Given the description of an element on the screen output the (x, y) to click on. 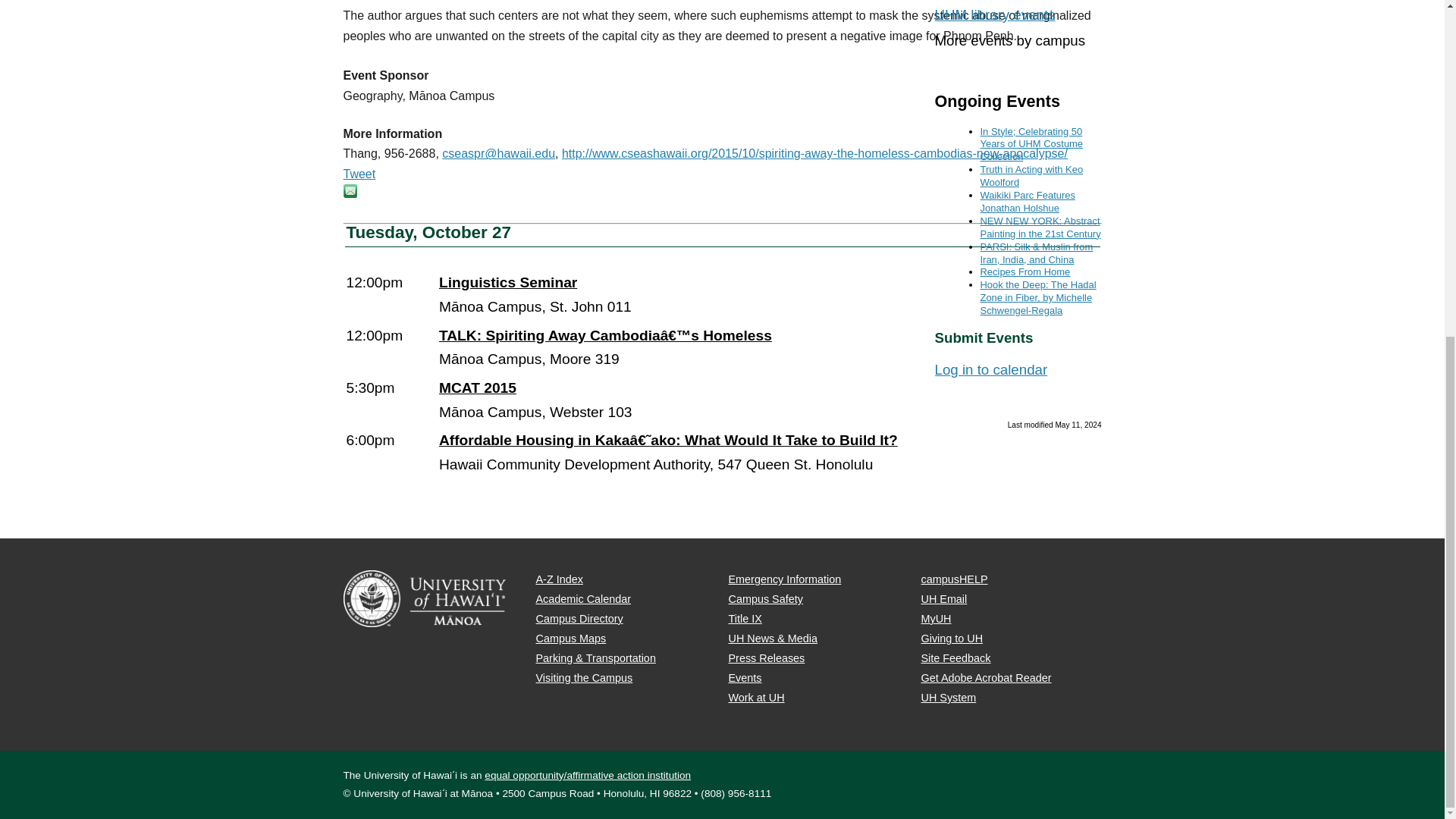
Share by Email (349, 193)
Tweet (358, 173)
MCAT 2015 (769, 397)
Linguistics Seminar (769, 292)
